Given the description of an element on the screen output the (x, y) to click on. 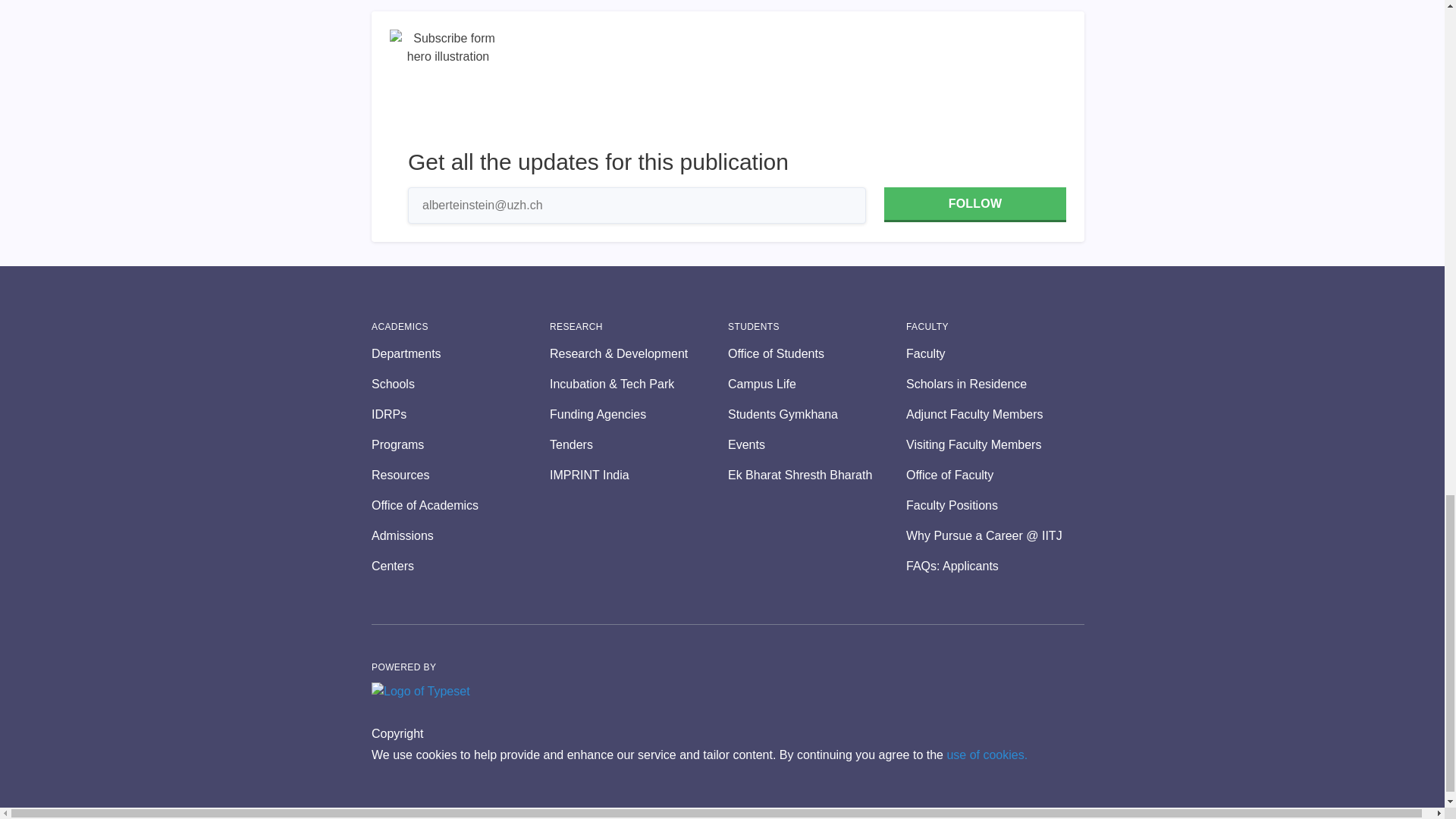
Logo of Typeset (420, 691)
Office of Academics (460, 505)
Tenders (639, 444)
Programs (460, 444)
Events (816, 444)
Departments (460, 353)
Office of Students (816, 353)
Schools (460, 384)
FOLLOW (974, 204)
Campus Life (816, 384)
IMPRINT India (639, 475)
Students Gymkhana (816, 414)
Centers (460, 566)
Admissions (460, 536)
Subscribe form hero illustration (448, 87)
